Given the description of an element on the screen output the (x, y) to click on. 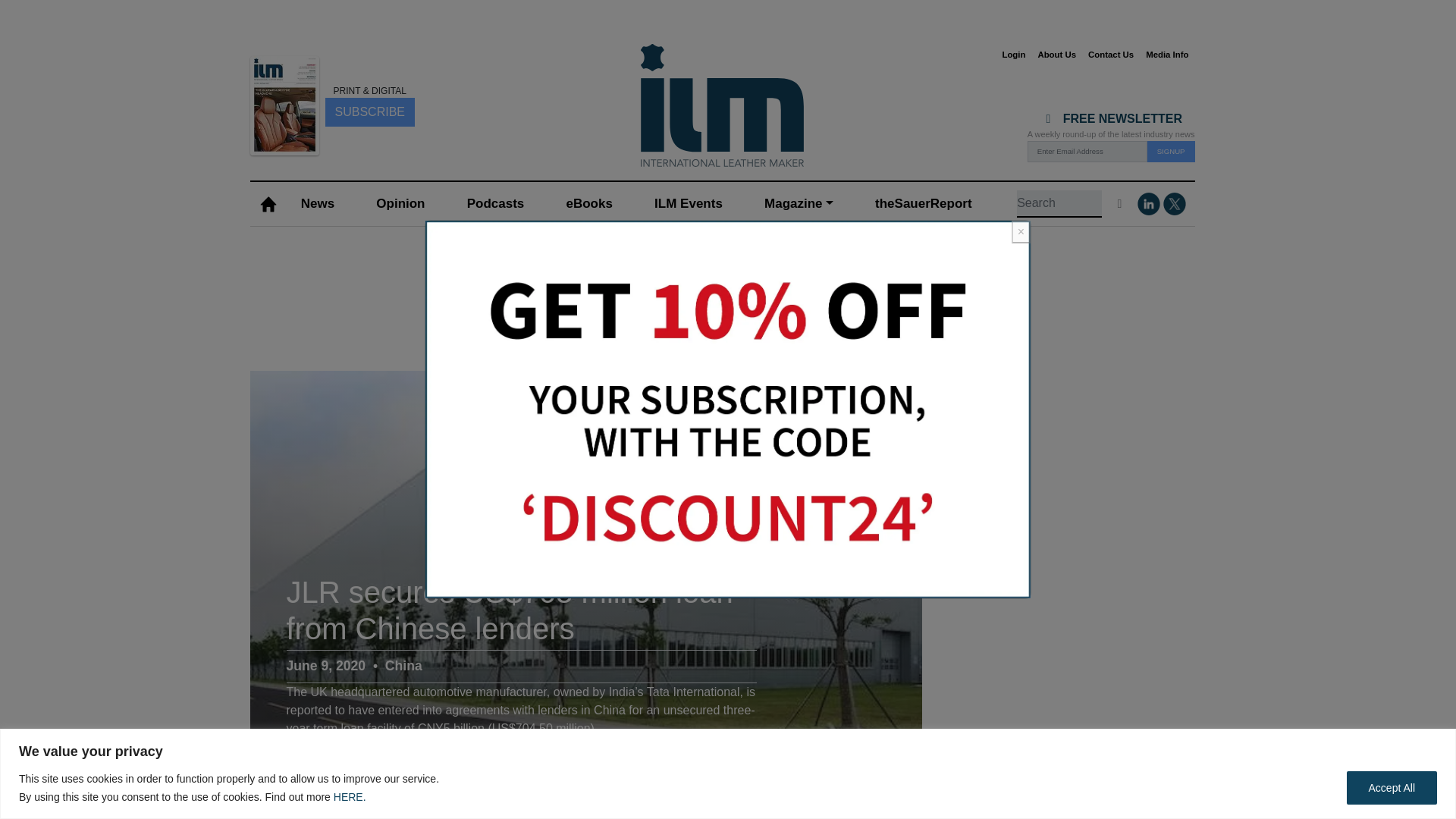
Login (1012, 54)
Media Info (1166, 54)
SUBSCRIBE (369, 111)
News (317, 204)
About Us (1055, 54)
Podcasts (494, 204)
eBooks (588, 204)
Magazine (797, 204)
JLR China facility (885, 755)
ILM Events (688, 204)
